Given the description of an element on the screen output the (x, y) to click on. 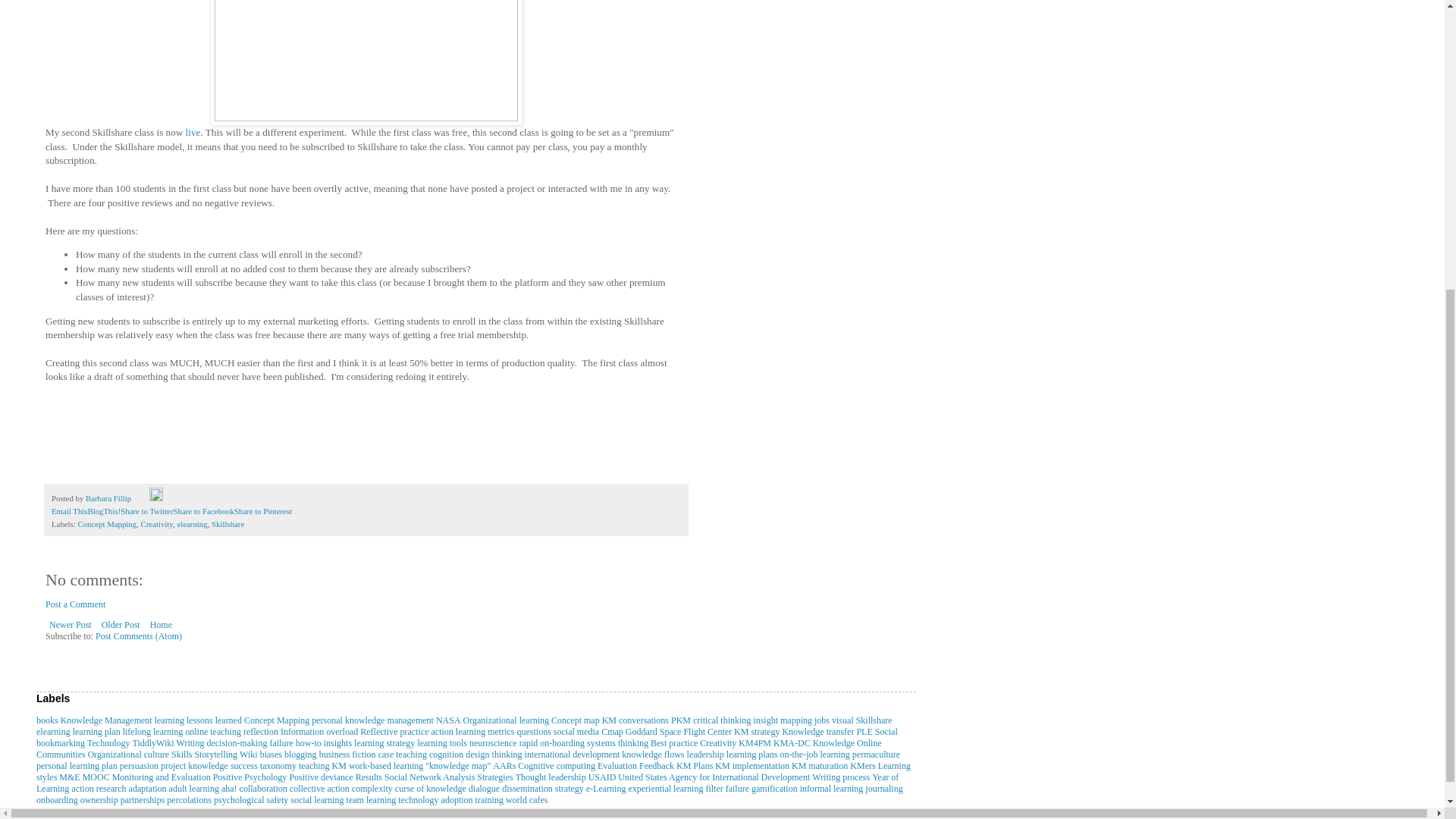
NASA (448, 719)
KM (608, 719)
conversations (643, 719)
BlogThis! (103, 510)
Concept Mapping (106, 523)
Email This (68, 510)
Share to Twitter (146, 510)
Share to Pinterest (263, 510)
Creativity (157, 523)
Email This (68, 510)
Newer Post (70, 624)
Skillshare (227, 523)
Knowledge Management (106, 719)
BlogThis! (103, 510)
critical thinking (722, 719)
